Given the description of an element on the screen output the (x, y) to click on. 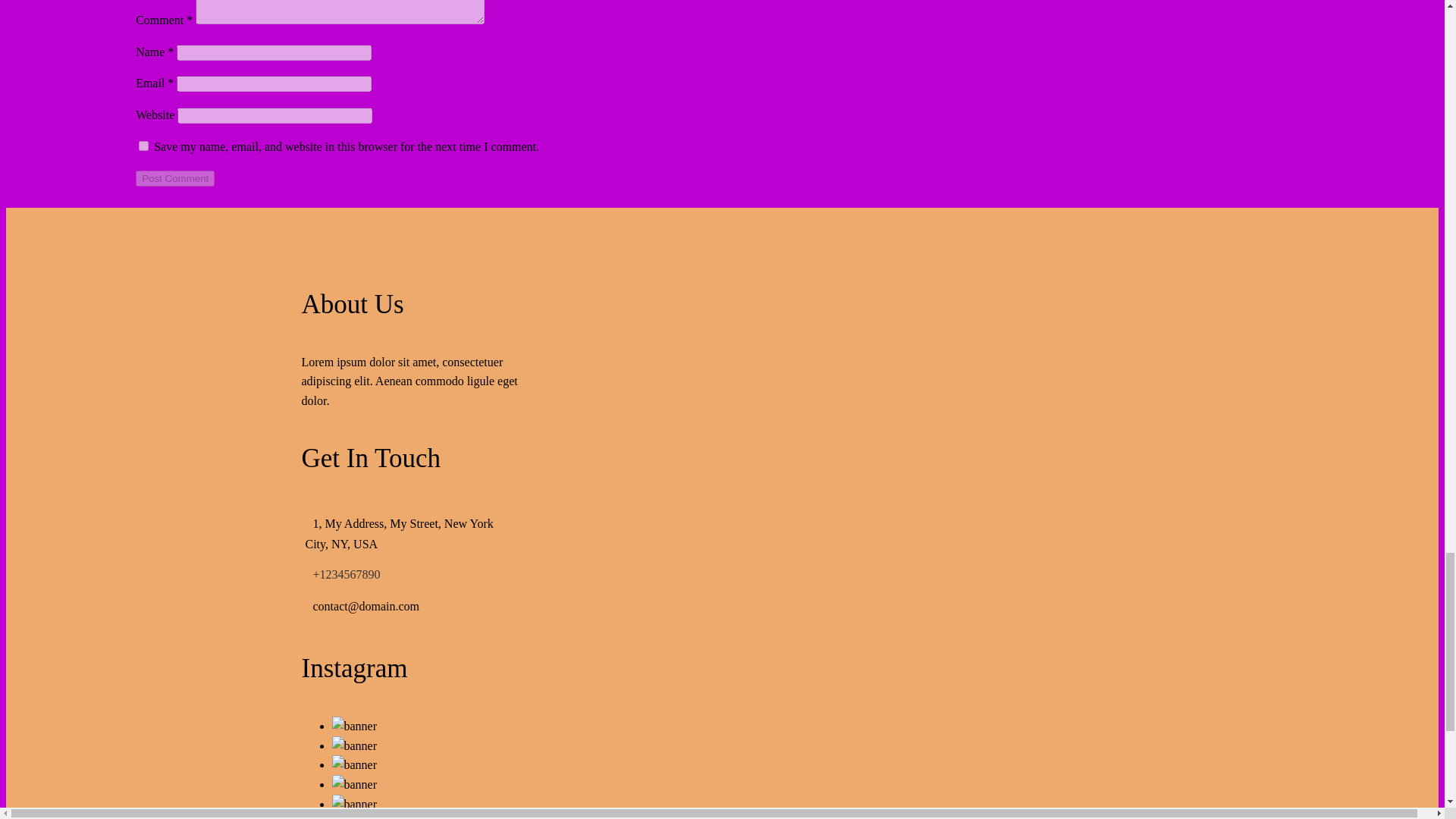
banner (354, 726)
Post Comment (174, 178)
Post Comment (174, 178)
banner (354, 764)
banner (354, 784)
yes (143, 145)
banner (354, 804)
banner (354, 745)
banner (354, 816)
